Given the description of an element on the screen output the (x, y) to click on. 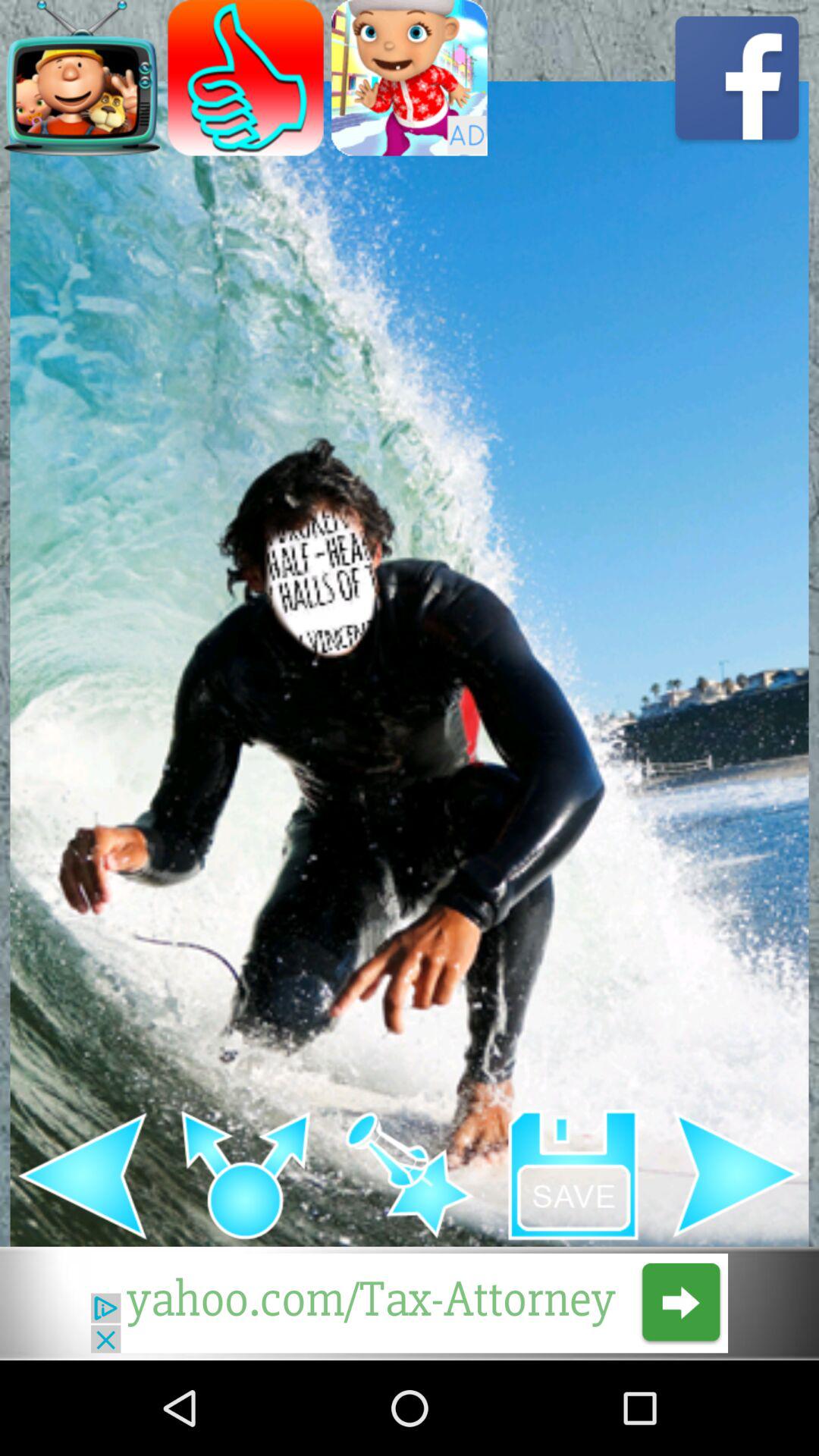
link to advertisement link (409, 1303)
